Given the description of an element on the screen output the (x, y) to click on. 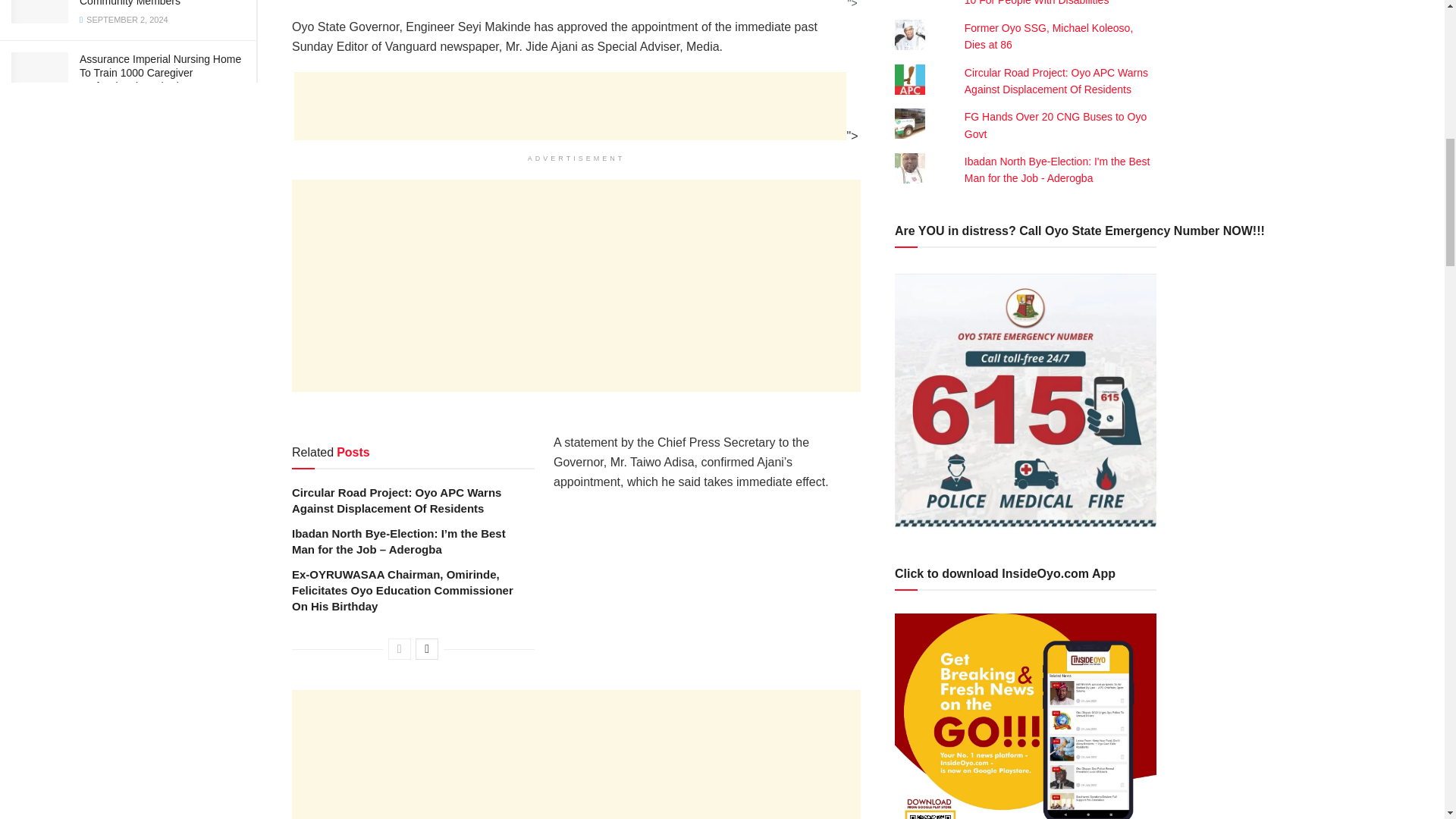
Are YOU in distress? Call Oyo State Emergency Number NOW!!! (1025, 400)
Previous (399, 649)
Former Oyo SSG, Michael Koleoso, Dies at 86 (1048, 36)
FG Hands Over 20 CNG Buses to Oyo Govt (1055, 124)
Next (426, 649)
